Given the description of an element on the screen output the (x, y) to click on. 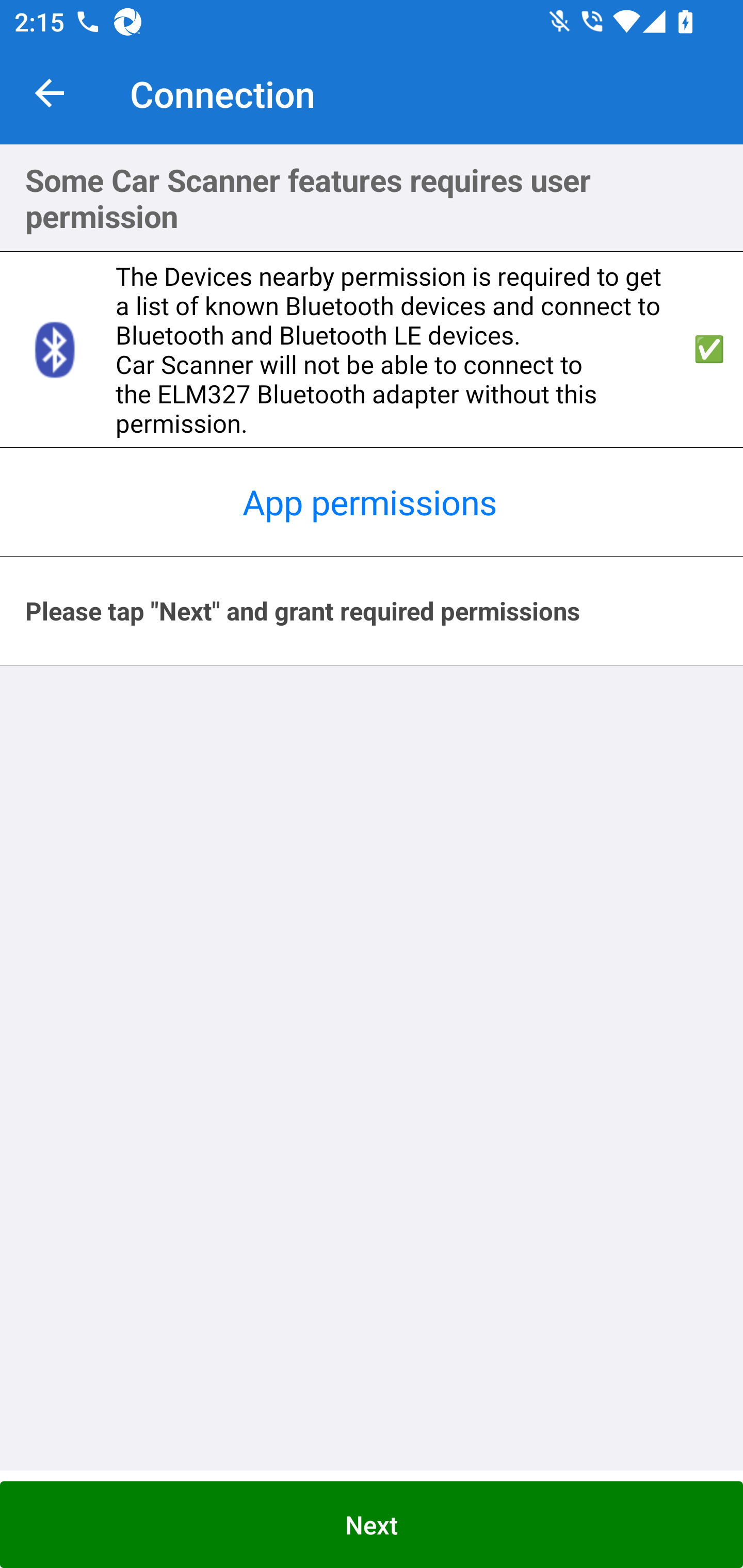
App permissions (371, 502)
Please tap "Next" and grant required permissions (371, 610)
Next (371, 1524)
